Given the description of an element on the screen output the (x, y) to click on. 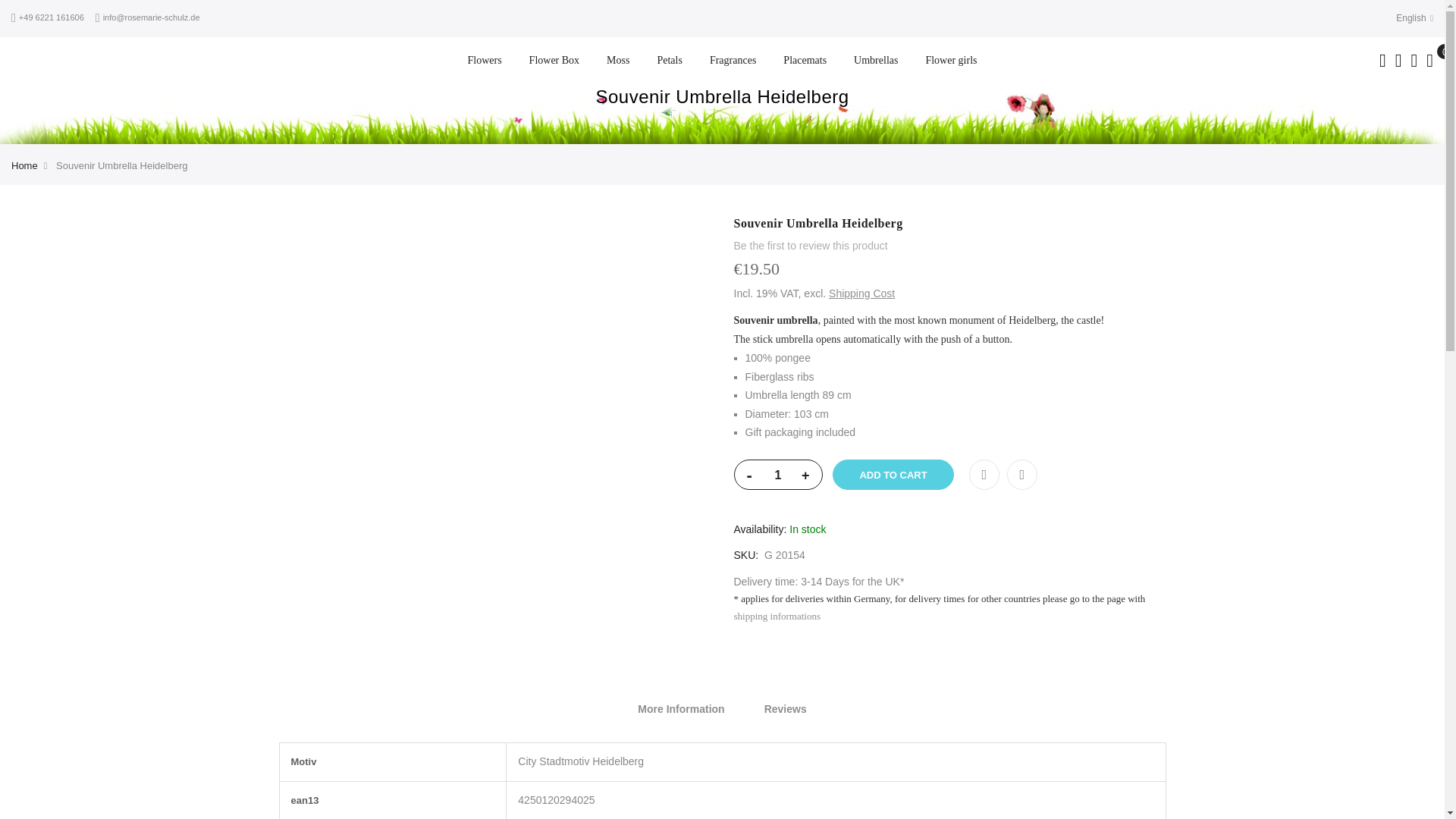
1 (777, 475)
Flower Box (554, 60)
Petals (669, 60)
Umbrellas (875, 60)
Logo Rosemarie Schulz Heidelberg (120, 60)
English (1414, 18)
Placemats (805, 60)
Flowers (483, 60)
Moss (617, 60)
Fragrances (732, 60)
